Given the description of an element on the screen output the (x, y) to click on. 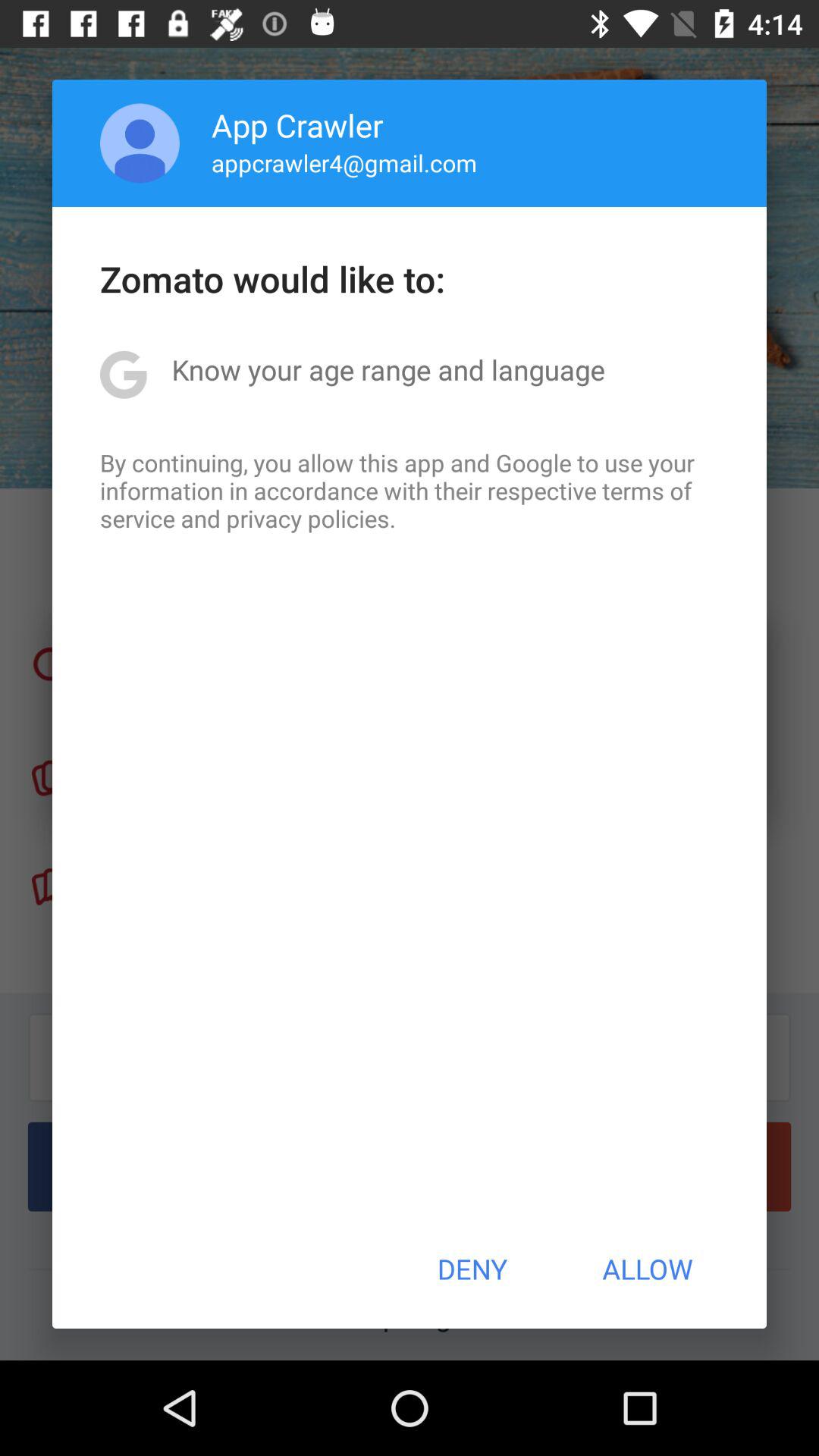
launch button next to the allow button (471, 1268)
